Given the description of an element on the screen output the (x, y) to click on. 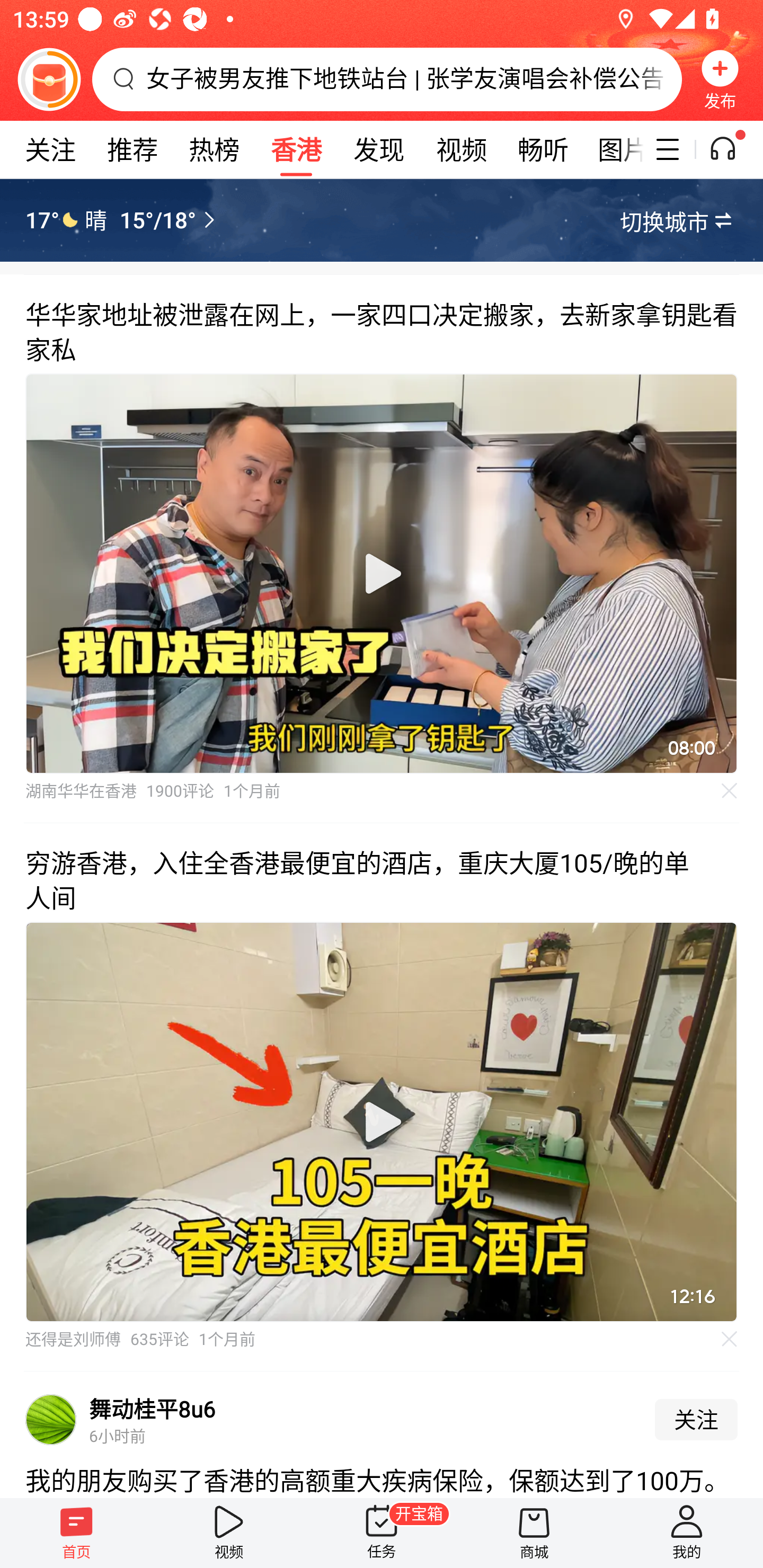
阅读赚金币 (48, 79)
发布 发布，按钮 (720, 78)
关注 (50, 149)
推荐 (132, 149)
热榜 (213, 149)
香港 (295, 149)
发现 (378, 149)
视频 (461, 149)
畅听 (542, 149)
图片 (613, 149)
听一听开关 (732, 149)
播放视频 视频播放器，双击屏幕打开播放控制 (381, 573)
播放视频 (381, 573)
不感兴趣 (729, 790)
播放视频 视频播放器，双击屏幕打开播放控制 (381, 1121)
播放视频 (381, 1121)
不感兴趣 (729, 1338)
舞动桂平8u6 (152, 1408)
舞动桂平8u6头像 (50, 1419)
关注 (695, 1419)
首页 (76, 1532)
视频 (228, 1532)
任务 开宝箱 (381, 1532)
商城 (533, 1532)
我的 (686, 1532)
